Given the description of an element on the screen output the (x, y) to click on. 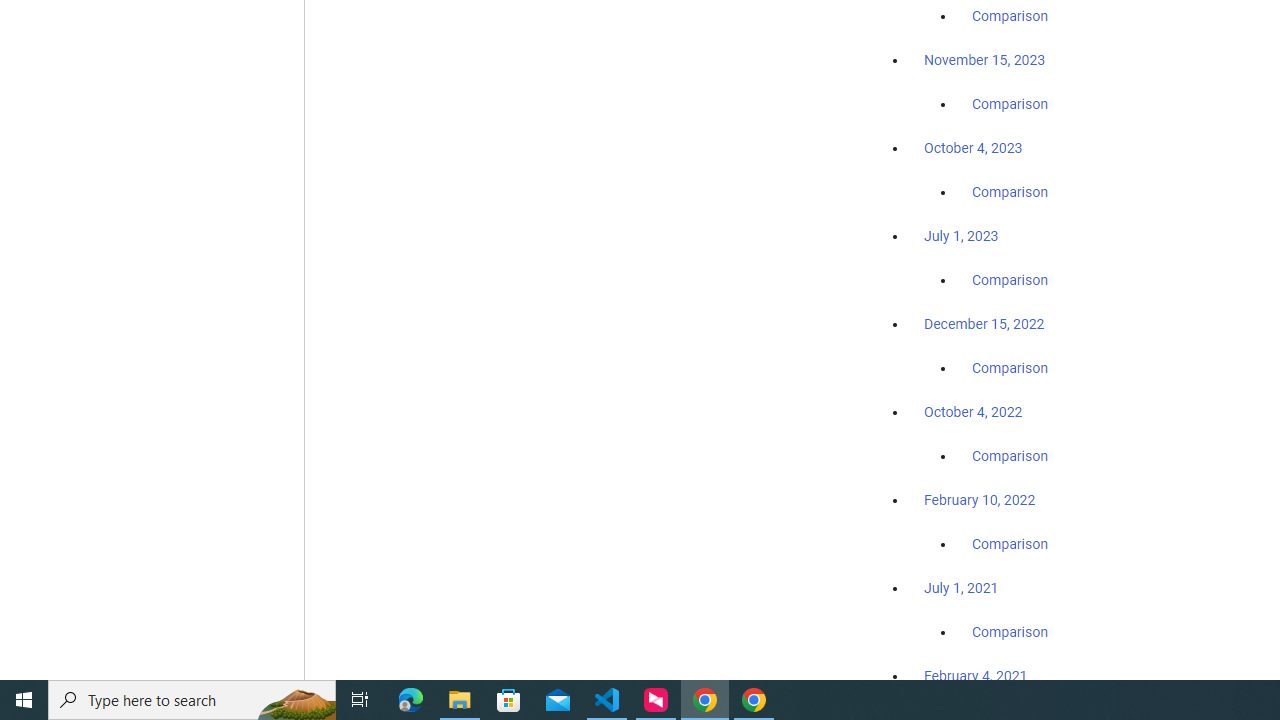
October 4, 2023 (973, 148)
October 4, 2022 (973, 412)
February 10, 2022 (979, 500)
December 15, 2022 (984, 323)
Comparison (1009, 631)
November 15, 2023 (984, 60)
July 1, 2023 (961, 236)
July 1, 2021 (961, 587)
February 4, 2021 (975, 675)
